Given the description of an element on the screen output the (x, y) to click on. 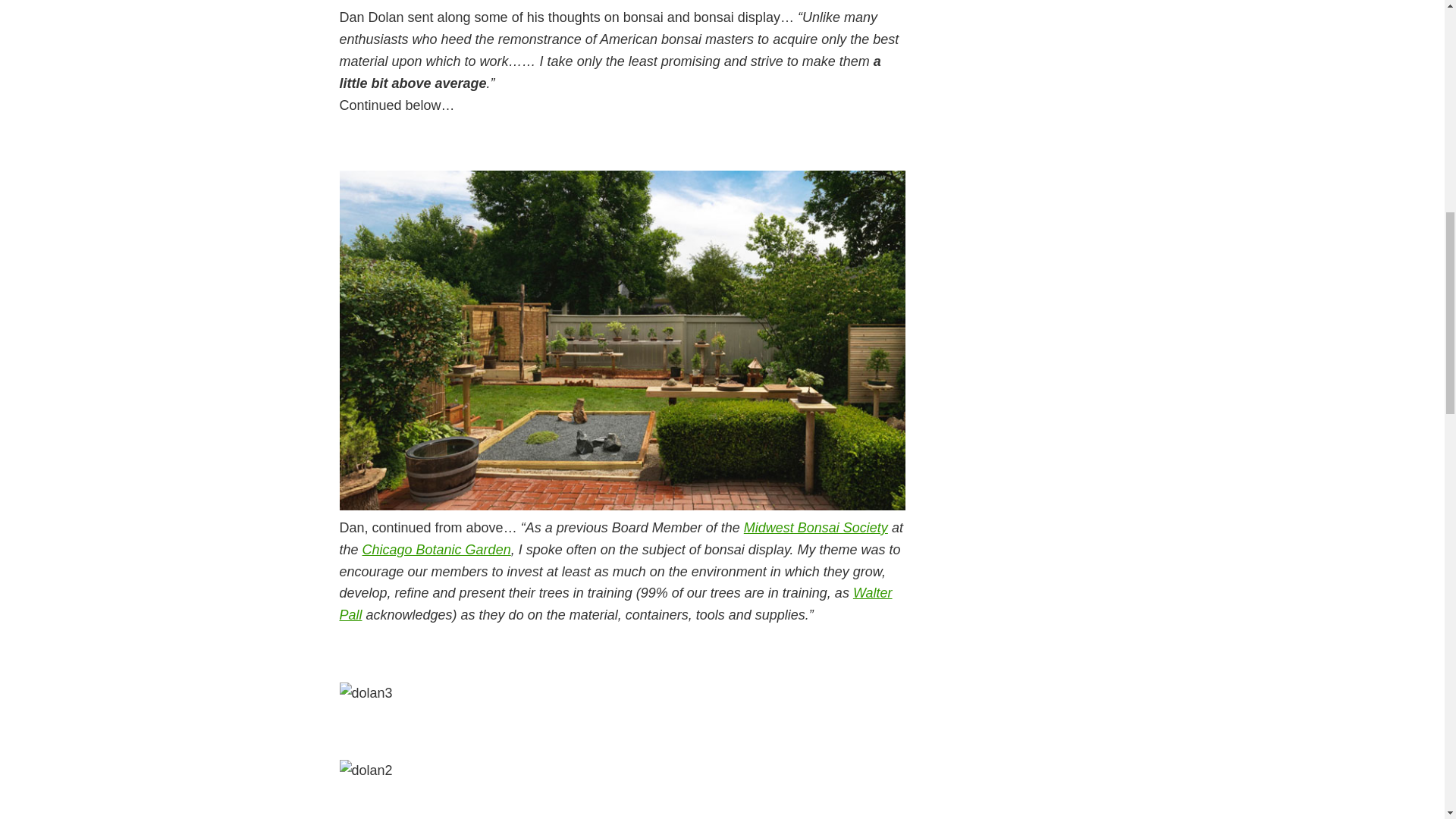
Walter Pall (615, 603)
Midwest Bonsai Society (816, 527)
Chicago Botanic Garden (436, 549)
